Given the description of an element on the screen output the (x, y) to click on. 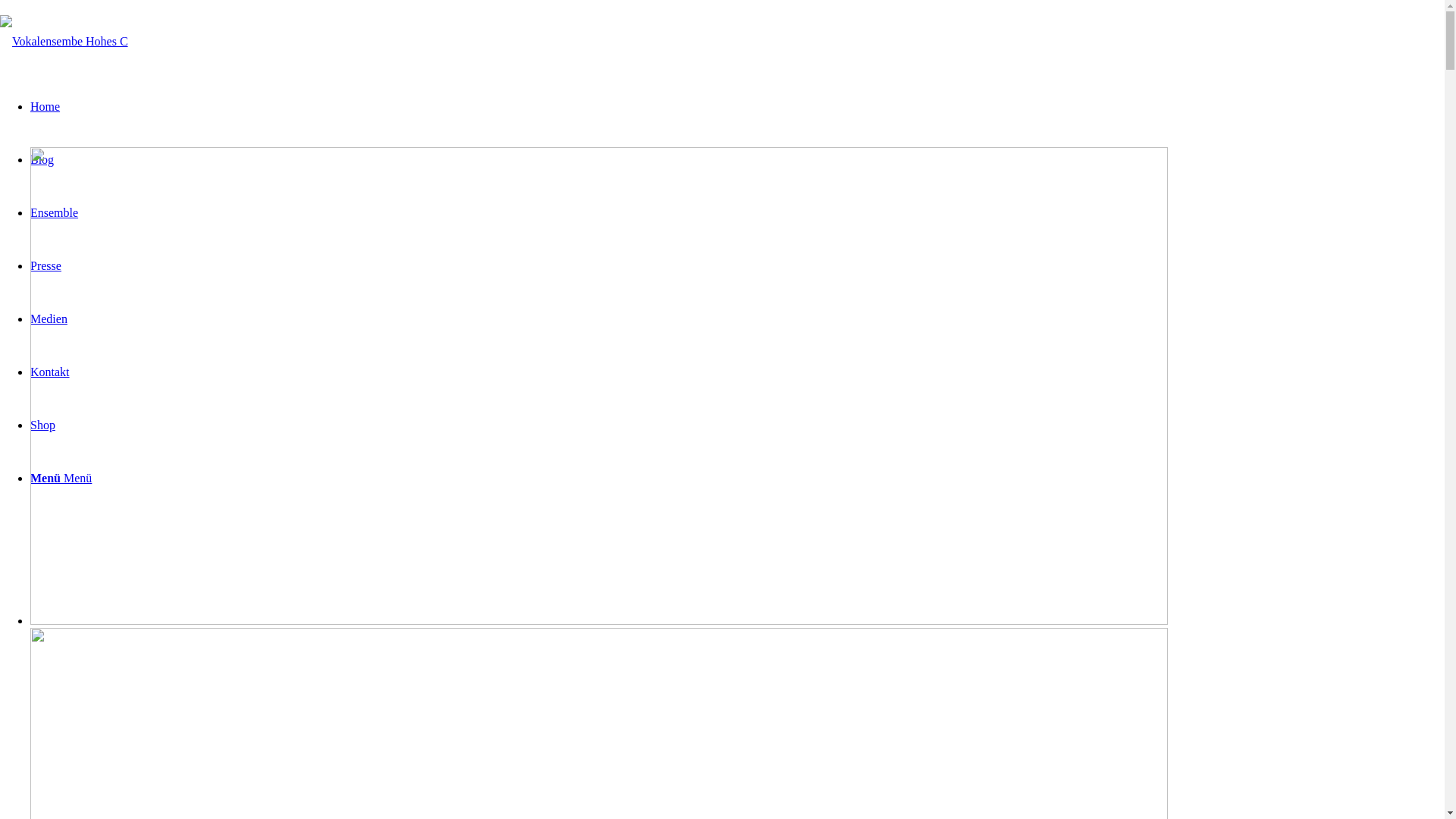
Shop Element type: text (42, 424)
Home Element type: text (44, 106)
Blog Element type: text (41, 159)
Presse Element type: text (45, 265)
hohes-c-vokalensemble-slider-01 Element type: hover (598, 385)
Logo_Web Element type: hover (64, 41)
Ensemble Element type: text (54, 212)
Medien Element type: text (48, 318)
Kontakt Element type: text (49, 371)
